Given the description of an element on the screen output the (x, y) to click on. 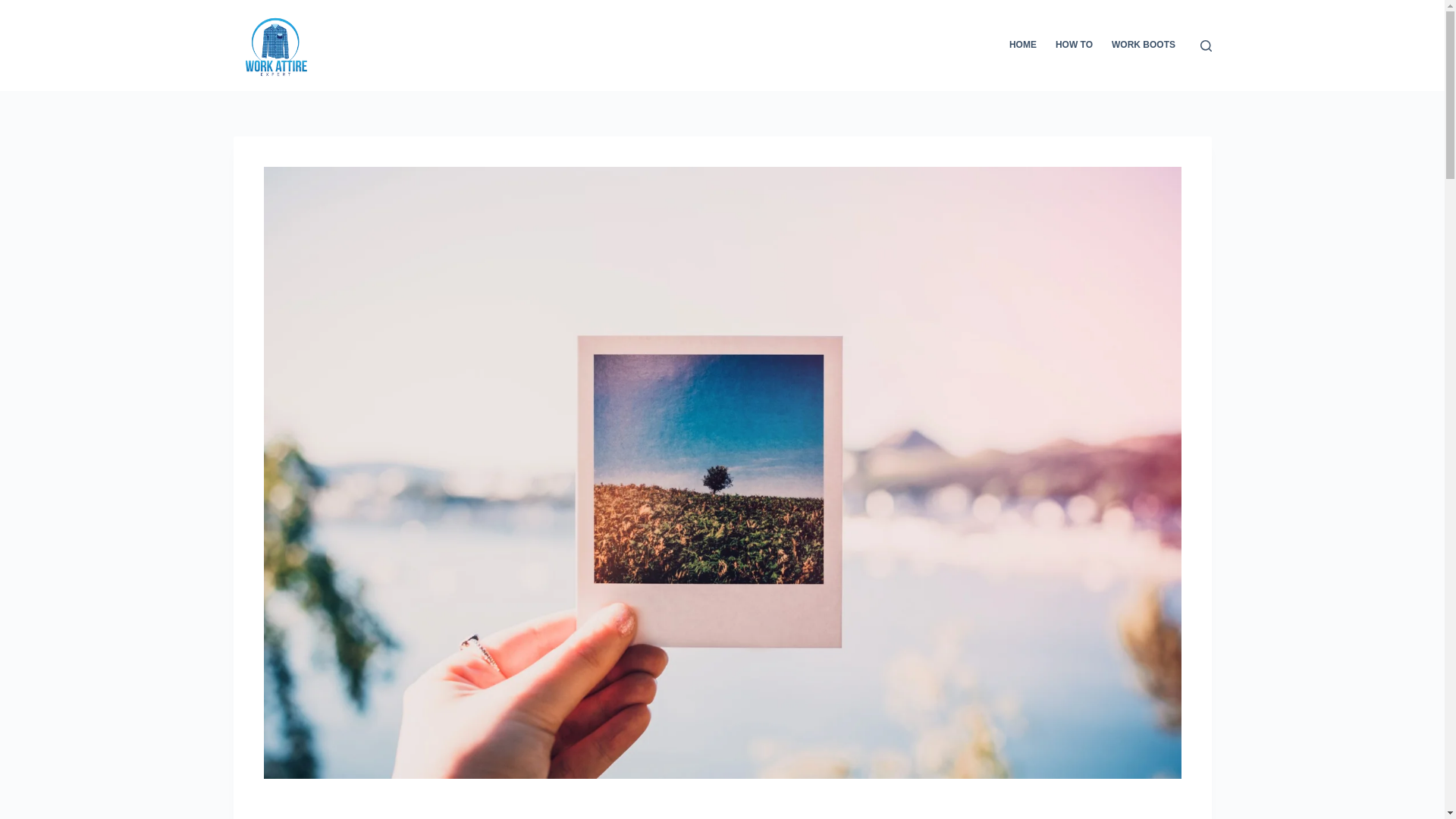
Skip to content (15, 7)
WORK BOOTS (1143, 45)
